Given the description of an element on the screen output the (x, y) to click on. 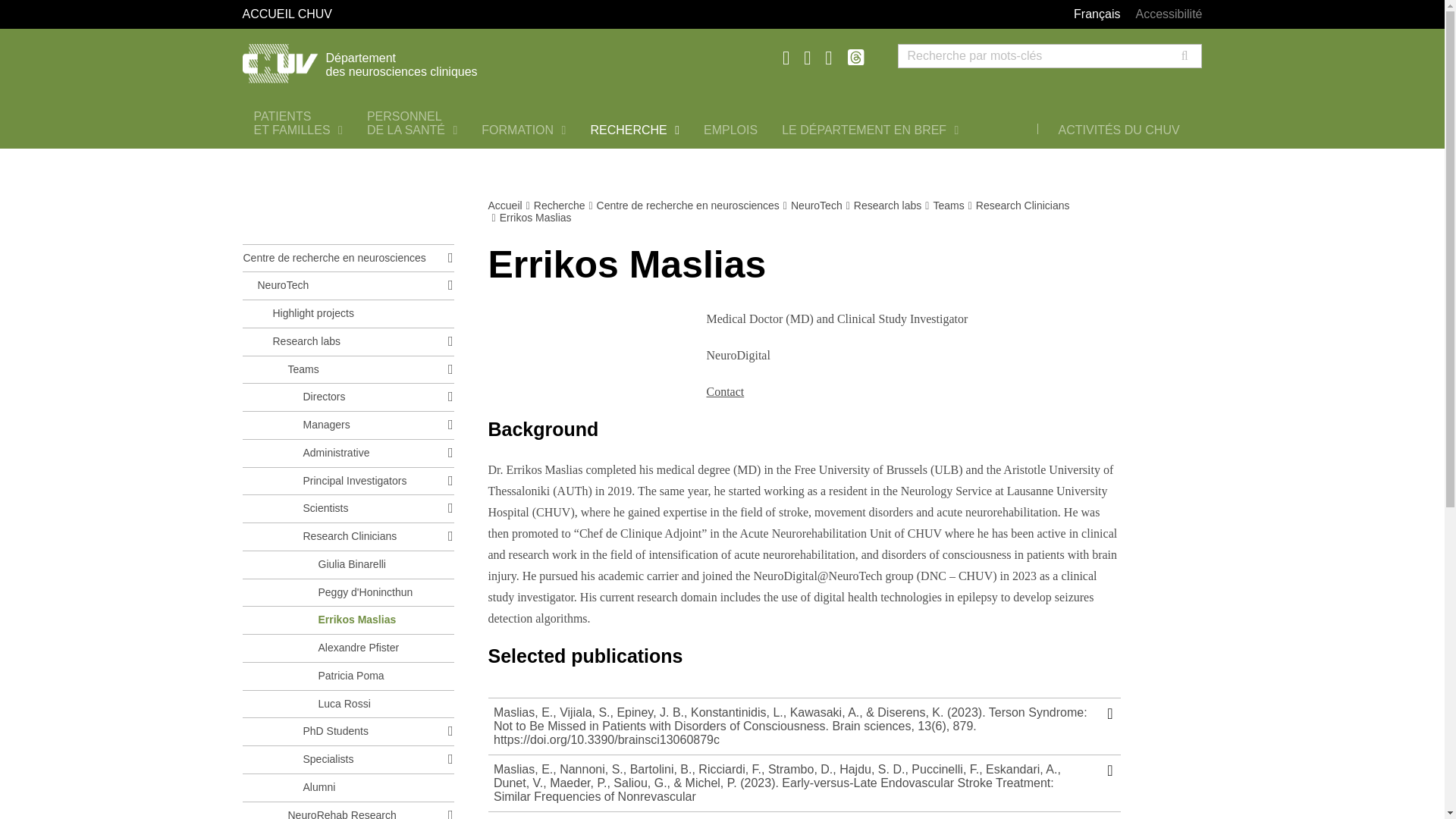
Emplois (730, 130)
EMPLOIS (730, 130)
ACCUEIL CHUV (395, 14)
RECHERCHE (298, 123)
FORMATION (634, 130)
Formation (523, 130)
CHUV (523, 130)
Patients et familles (435, 61)
Recherche (298, 123)
